Given the description of an element on the screen output the (x, y) to click on. 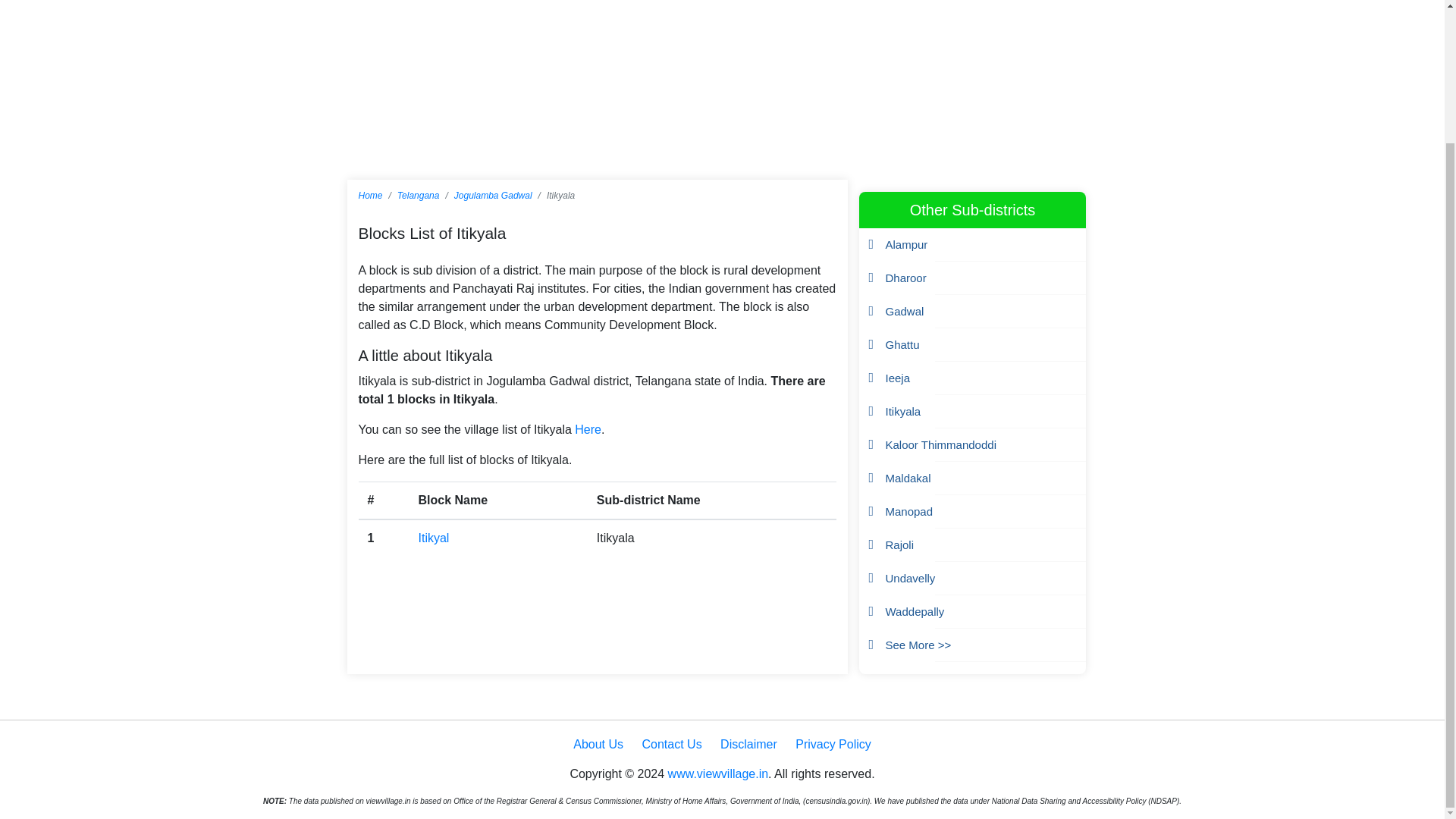
Dharoor (905, 277)
Home (369, 195)
Here (588, 429)
Advertisement (721, 63)
Alampur (906, 244)
Jogulamba Gadwal (493, 195)
Waddepally (914, 611)
Kaloor Thimmandoddi (940, 444)
Itikyala (903, 410)
Rajoli (899, 544)
Manopad (909, 511)
Telangana (418, 195)
Gadwal (904, 310)
Ieeja (898, 377)
Maldakal (908, 477)
